Given the description of an element on the screen output the (x, y) to click on. 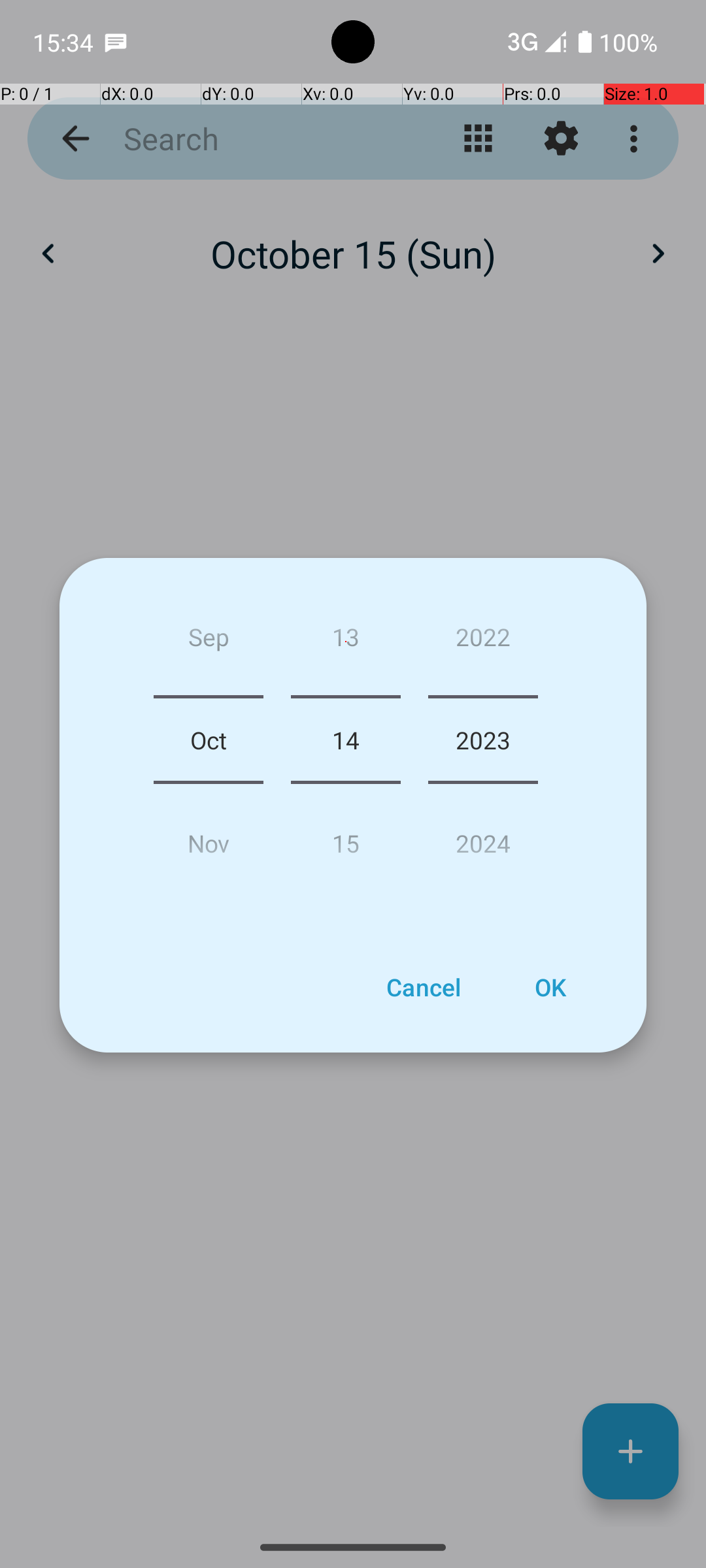
Sep Element type: android.widget.Button (208, 641)
Oct Element type: android.widget.EditText (208, 739)
Nov Element type: android.widget.Button (208, 837)
2022 Element type: android.widget.Button (482, 641)
2024 Element type: android.widget.Button (482, 837)
